Given the description of an element on the screen output the (x, y) to click on. 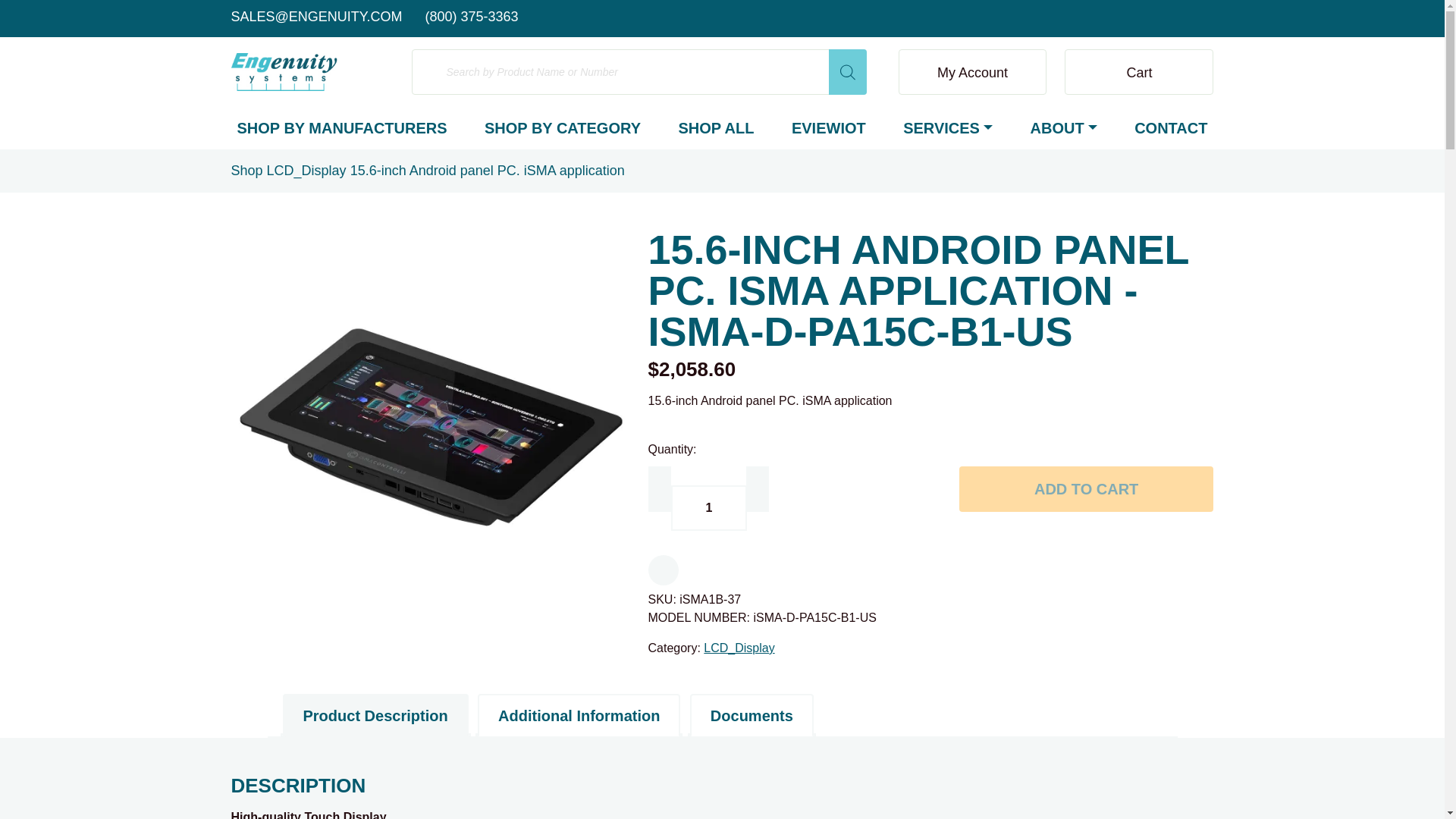
1 (708, 507)
Cart (1138, 72)
Decrease Qty (658, 488)
My Account (972, 72)
Increase Qty (756, 488)
EVIEWIOT (829, 128)
Cart (1138, 72)
SHOP BY MANUFACTURERS (341, 128)
My Account (972, 72)
ADD TO CART (1086, 488)
Documents (751, 715)
Additional Information (578, 715)
Product Description (374, 715)
Print Page (662, 570)
